Given the description of an element on the screen output the (x, y) to click on. 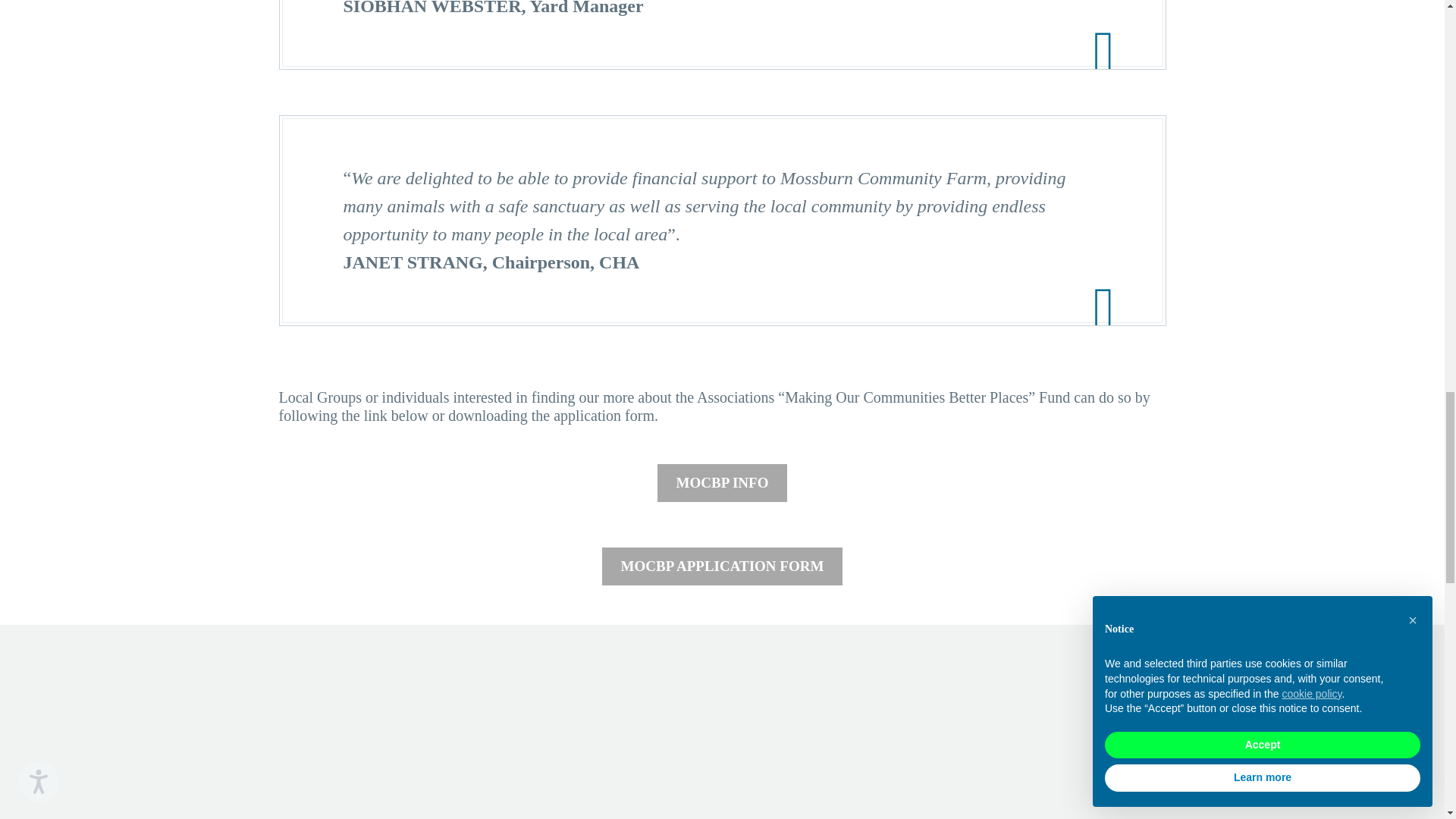
Making Our Communities Better Places Fund (722, 483)
